Given the description of an element on the screen output the (x, y) to click on. 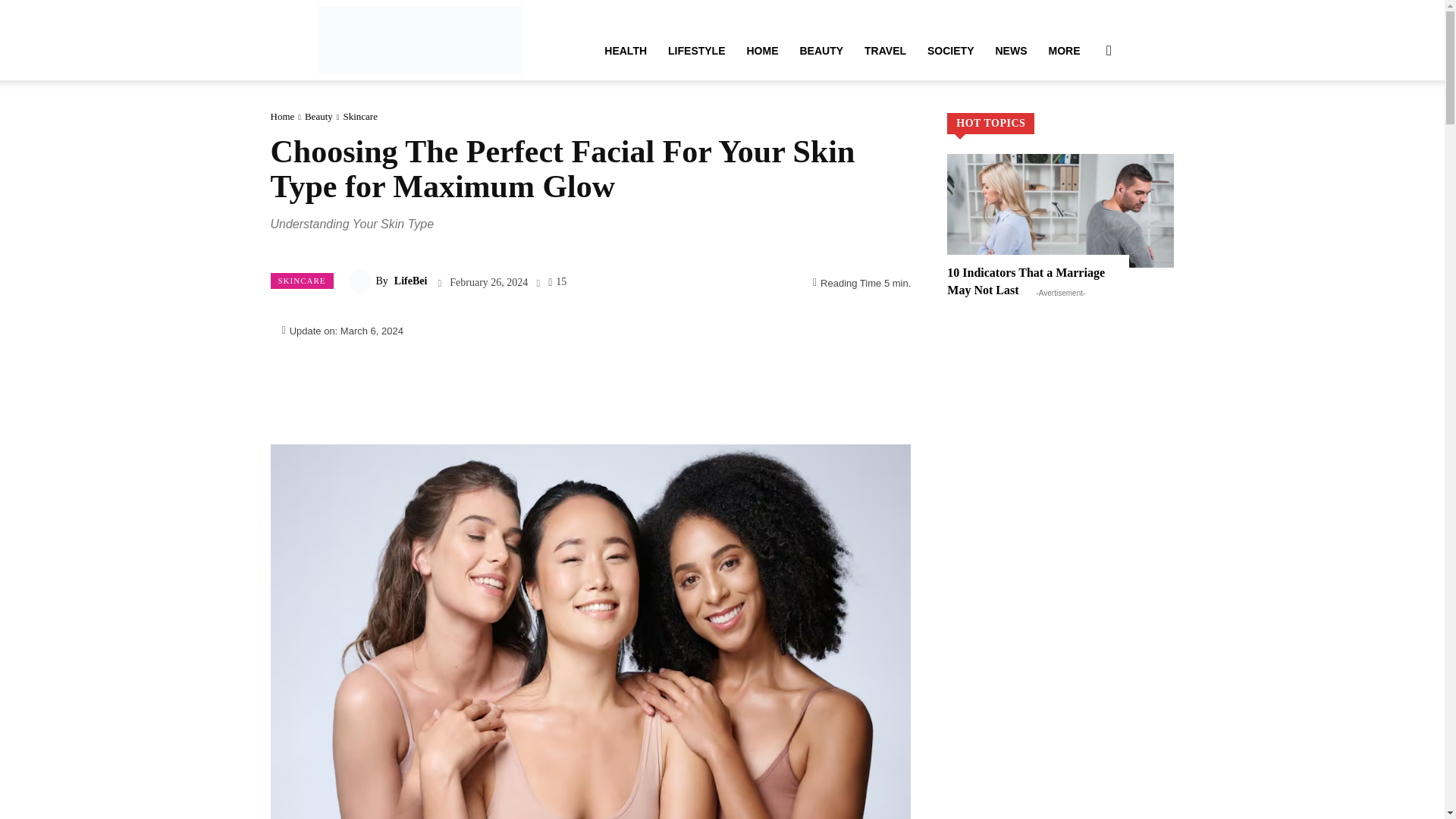
View all posts in Skincare (359, 116)
10 Indicators That a Marriage May Not Last (1060, 210)
10 Indicators That a Marriage May Not Last (1026, 280)
LIFESTYLE (696, 50)
LifeBei (419, 39)
LifeBei Best Lifestyle Tips (419, 39)
HEALTH (626, 50)
LifeBei (362, 281)
HOME (762, 50)
Search (1085, 122)
